Given the description of an element on the screen output the (x, y) to click on. 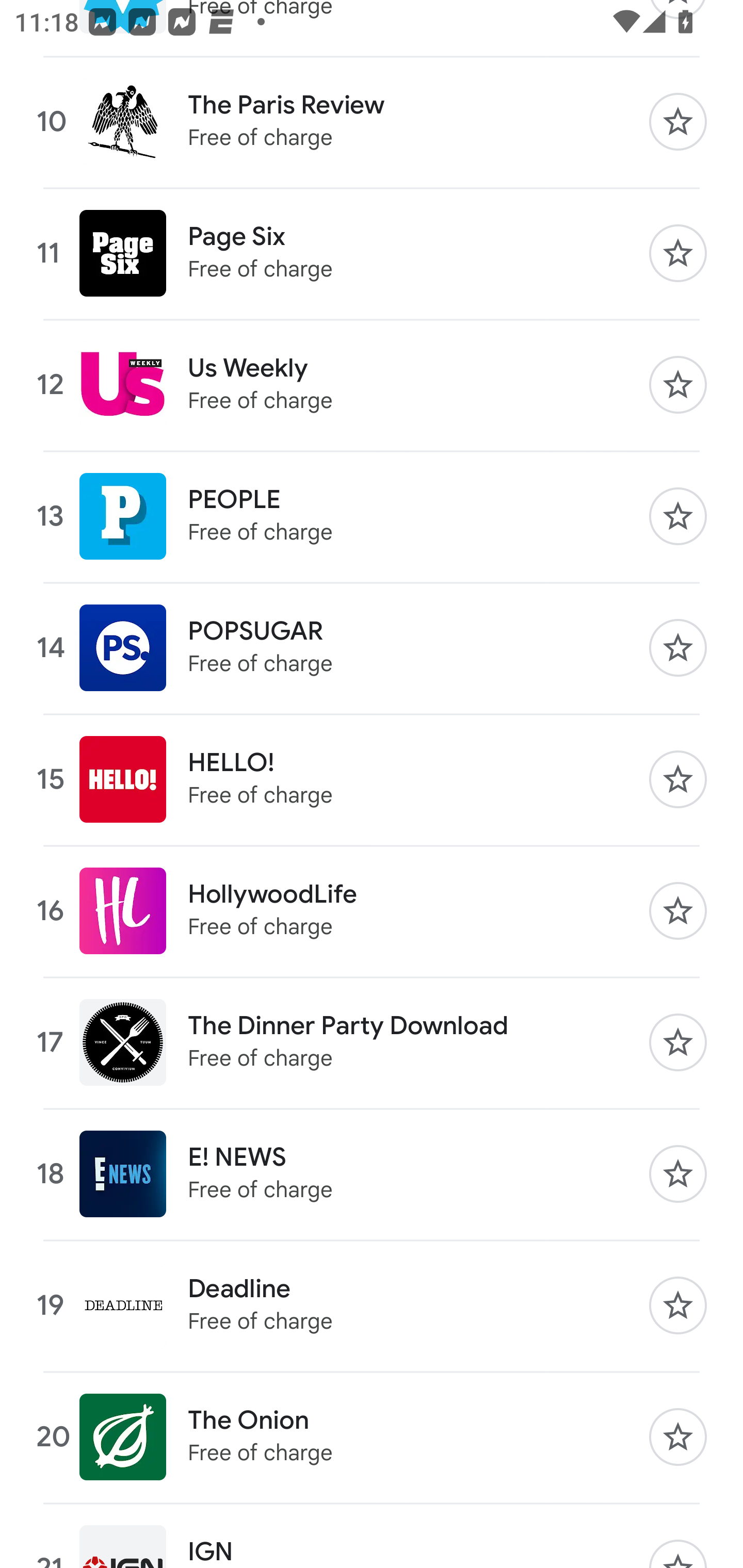
10 The Paris Review Free of charge Follow (371, 121)
Follow (677, 121)
11 Page Six Free of charge Follow (371, 253)
Follow (677, 253)
12 Us Weekly Free of charge Follow (371, 384)
Follow (677, 384)
13 PEOPLE Free of charge Follow (371, 516)
Follow (677, 516)
14 POPSUGAR Free of charge Follow (371, 648)
Follow (677, 648)
15 HELLO! Free of charge Follow (371, 779)
Follow (677, 779)
16 HollywoodLife Free of charge Follow (371, 910)
Follow (677, 910)
17 The Dinner Party Download Free of charge Follow (371, 1041)
Follow (677, 1041)
18 E! NEWS Free of charge Follow (371, 1173)
Follow (677, 1173)
19 Deadline Free of charge Follow (371, 1305)
Follow (677, 1305)
20 The Onion Free of charge Follow (371, 1437)
Follow (677, 1437)
